Given the description of an element on the screen output the (x, y) to click on. 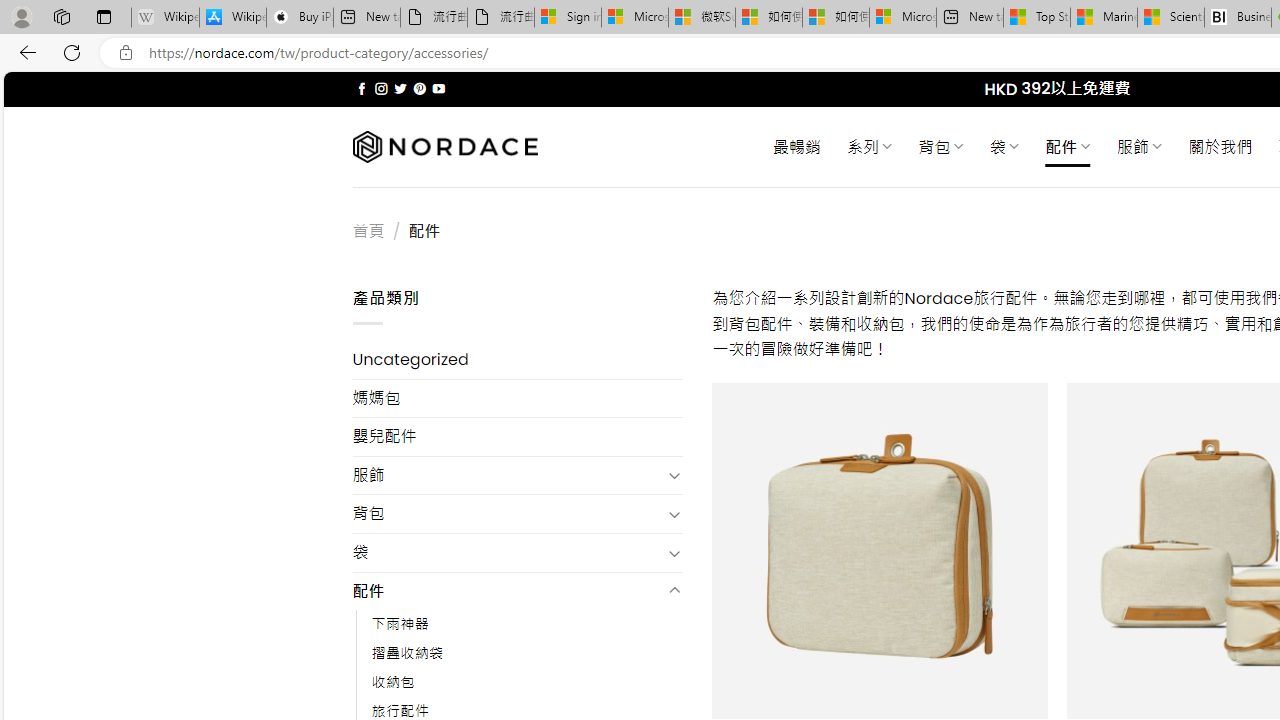
Follow on Twitter (400, 88)
